Given the description of an element on the screen output the (x, y) to click on. 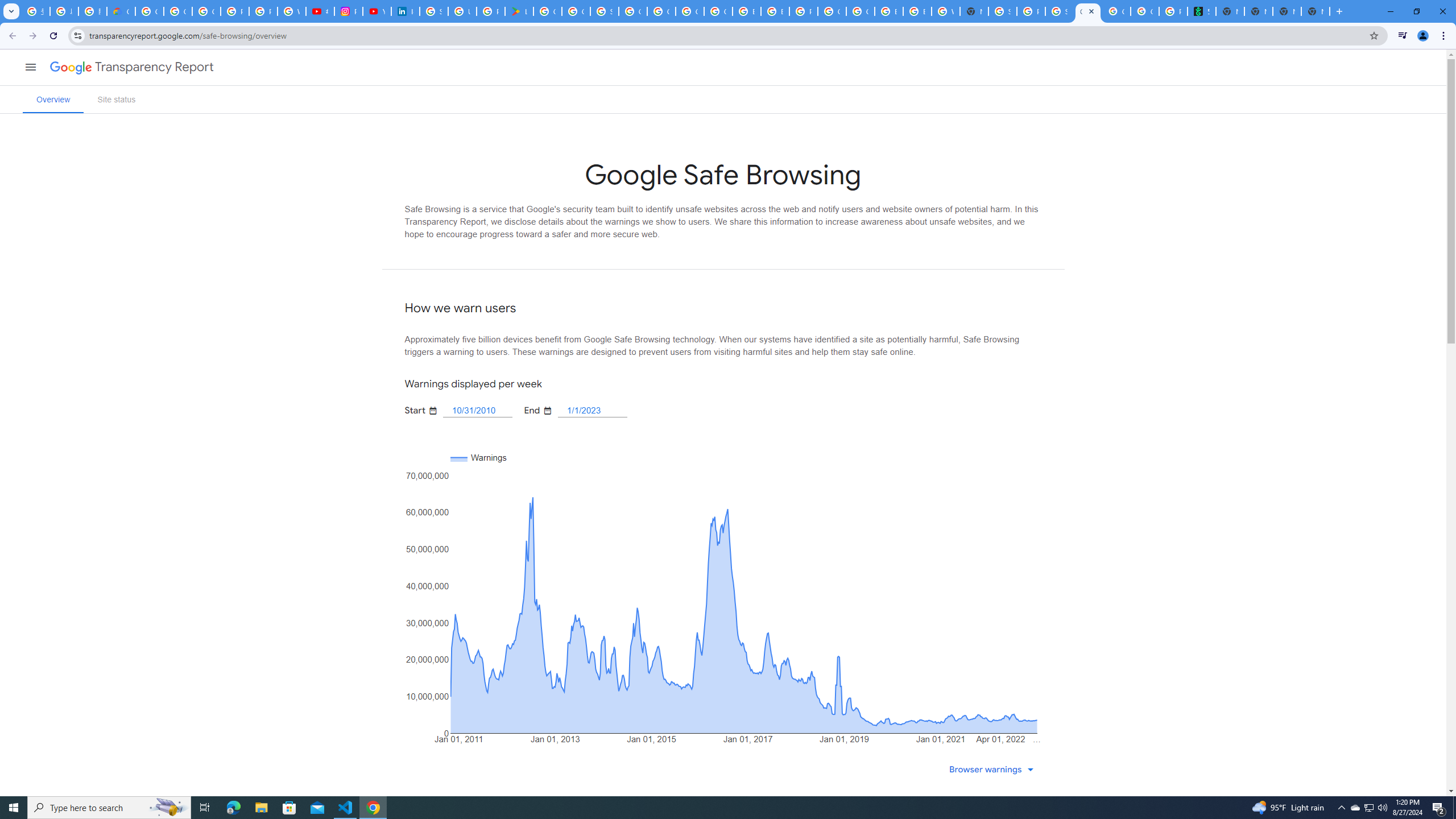
Browser warnings (994, 768)
Open navigation menu (30, 67)
Identity verification via Persona | LinkedIn Help (405, 11)
New Tab (1315, 11)
Browse Chrome as a guest - Computer - Google Chrome Help (774, 11)
Sign in - Google Accounts (433, 11)
Privacy Help Center - Policies Help (263, 11)
Google (66, 67)
